Given the description of an element on the screen output the (x, y) to click on. 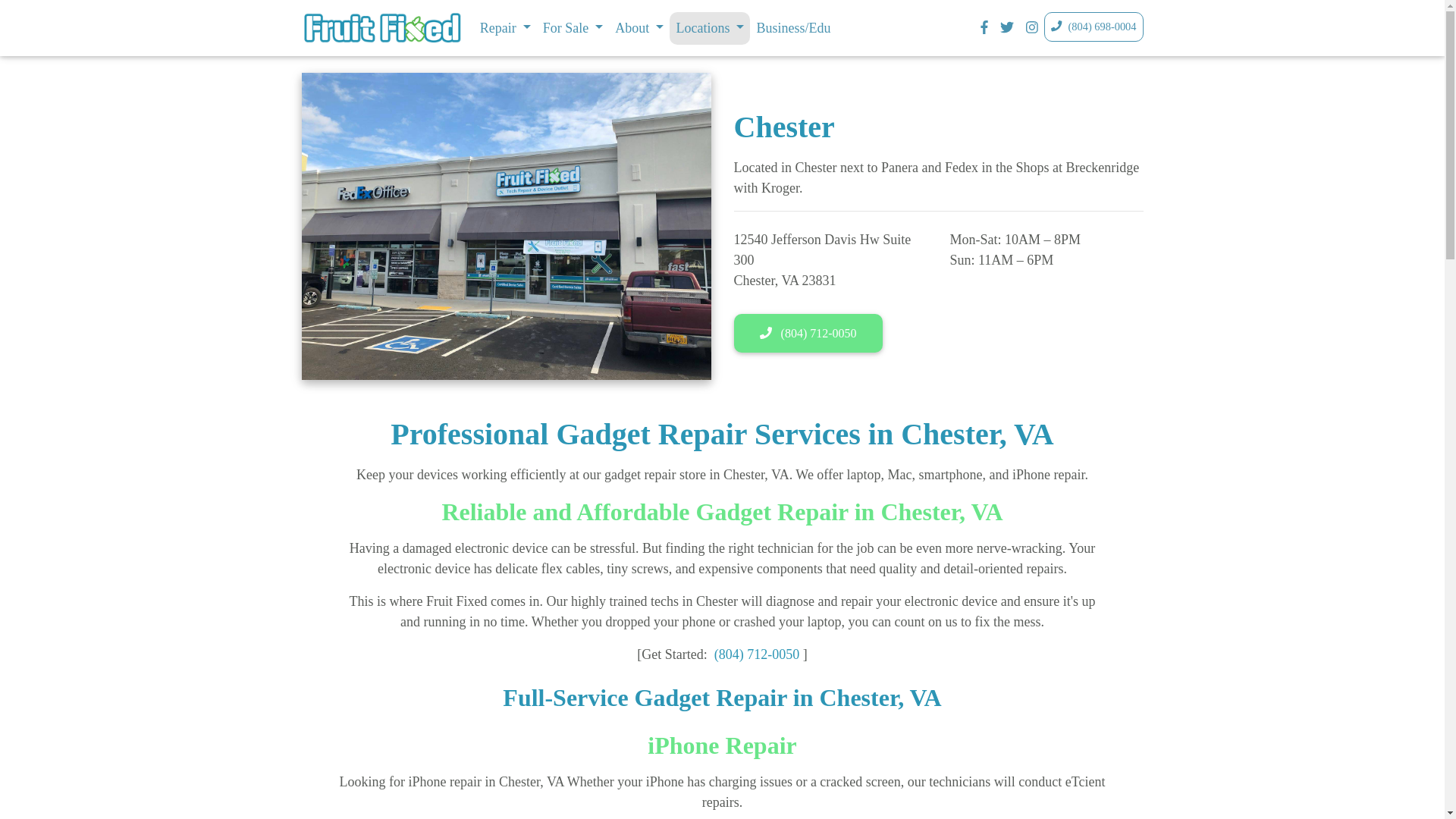
Locations (709, 28)
Repair (505, 28)
For Sale (573, 28)
About (638, 28)
